Given the description of an element on the screen output the (x, y) to click on. 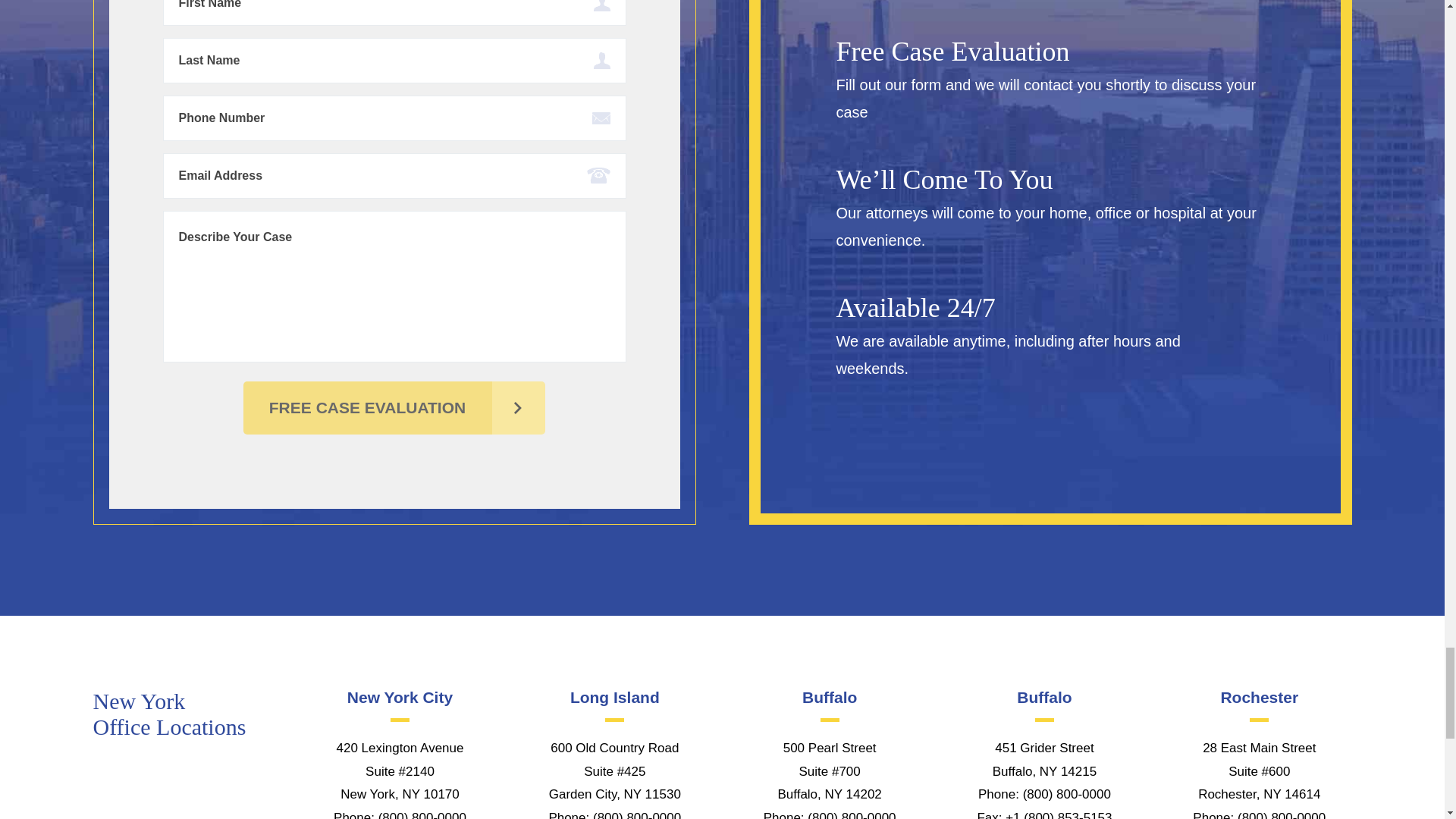
Free Case Evaluation (393, 407)
